Given the description of an element on the screen output the (x, y) to click on. 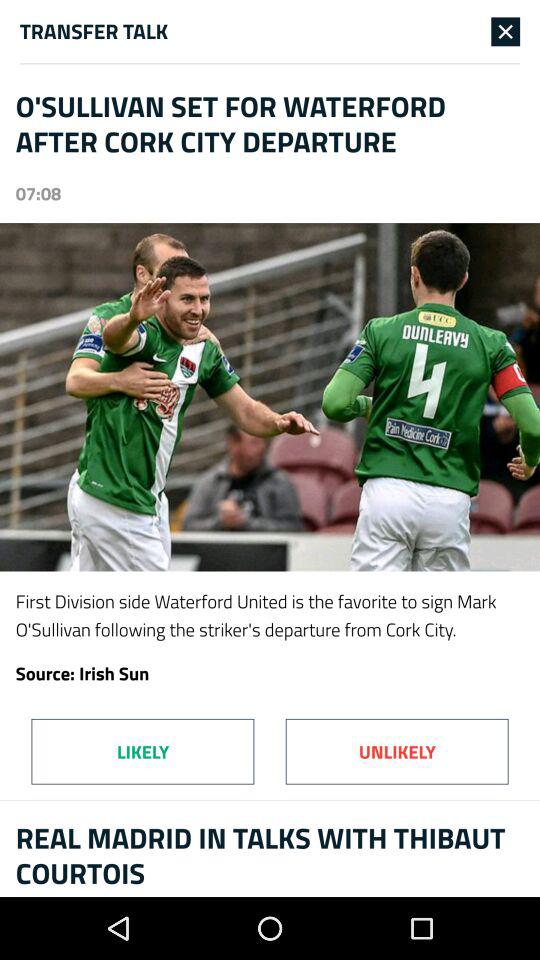
launch icon to the right of likely item (396, 751)
